Given the description of an element on the screen output the (x, y) to click on. 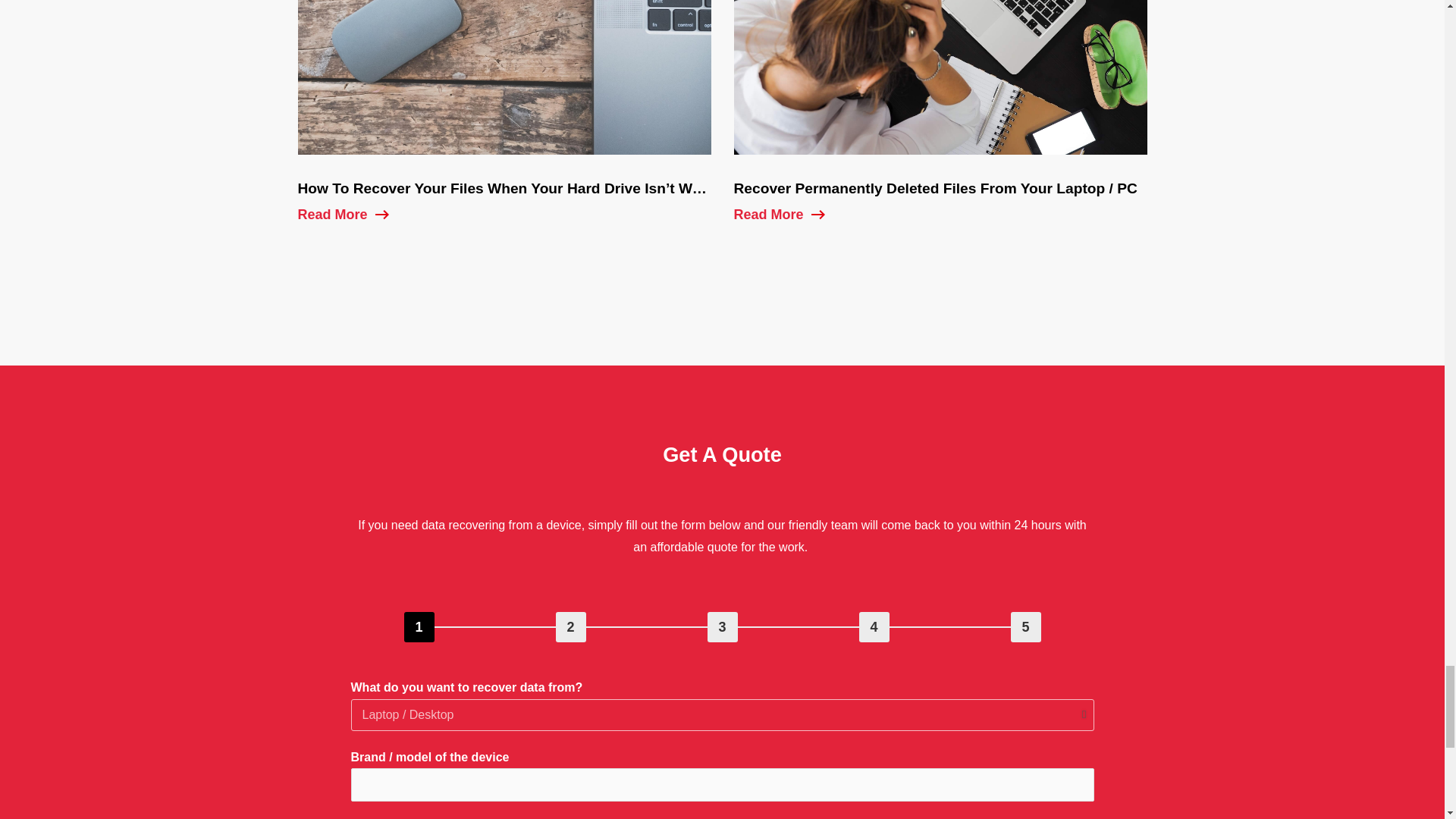
Read More (774, 218)
Read More (337, 218)
